Given the description of an element on the screen output the (x, y) to click on. 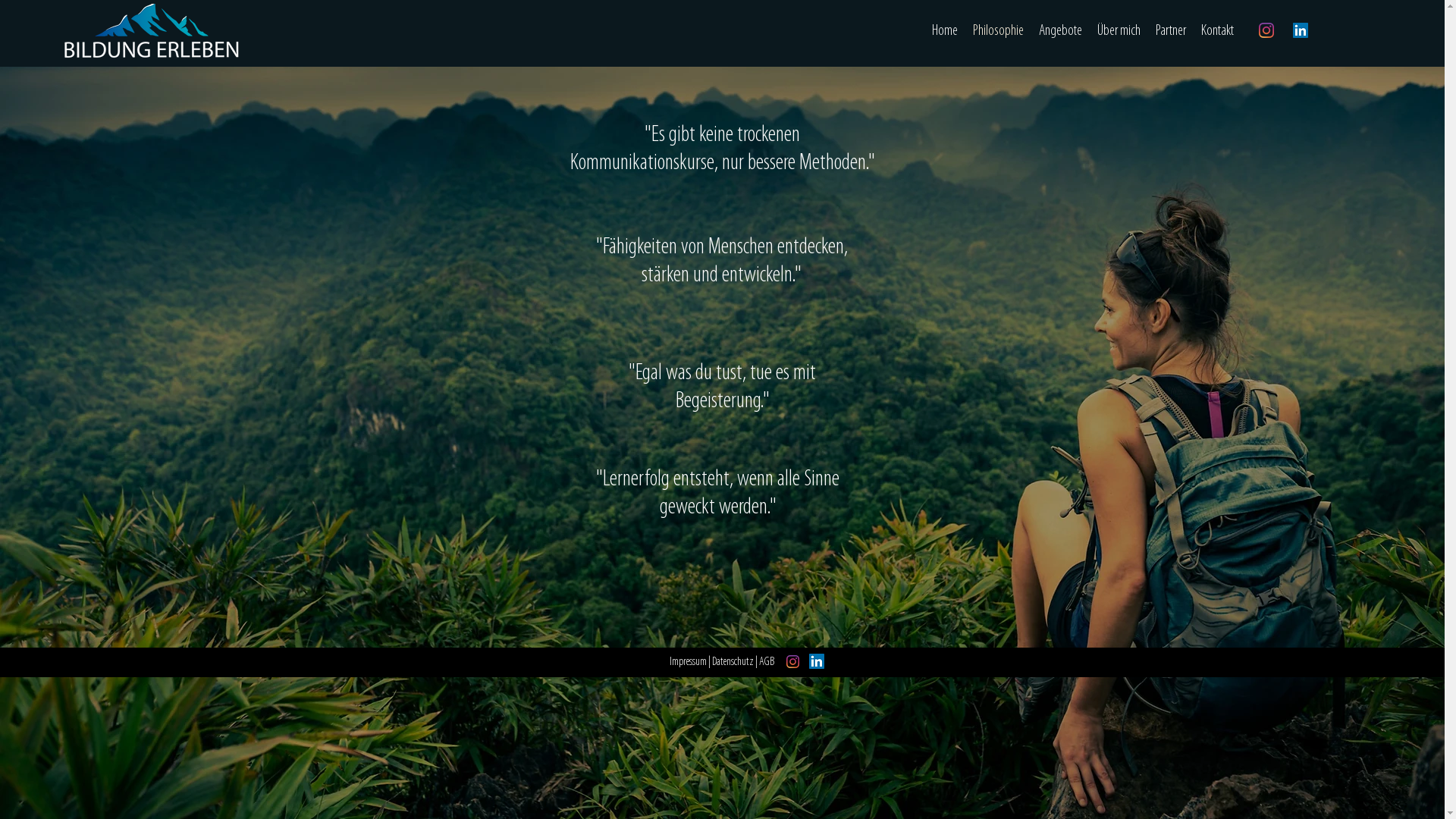
Home Element type: text (944, 30)
Philosophie Element type: text (998, 30)
Partner Element type: text (1170, 30)
Impressum Element type: text (687, 661)
Datenschutz Element type: text (732, 661)
Kontakt Element type: text (1217, 30)
BILDUNG%20ERLEBEN%20GMBH%20-%20negativ%2 Element type: hover (151, 32)
Angebote Element type: text (1060, 30)
AGB  Element type: text (766, 661)
